Given the description of an element on the screen output the (x, y) to click on. 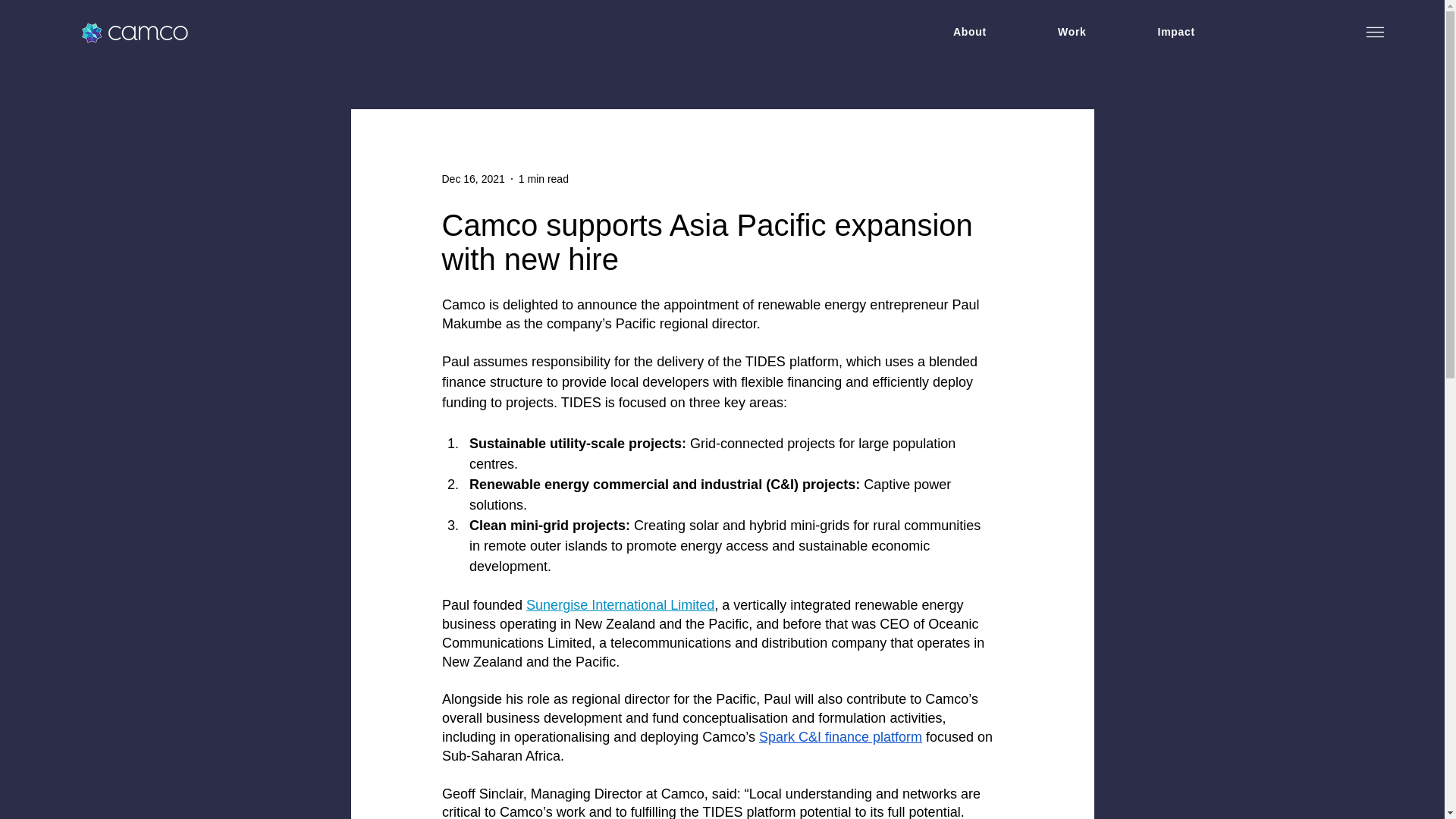
Dec 16, 2021 (472, 178)
1 min read (543, 178)
Sunergise International Limited (619, 604)
Impact (1176, 31)
Work (1072, 31)
About (969, 31)
